Given the description of an element on the screen output the (x, y) to click on. 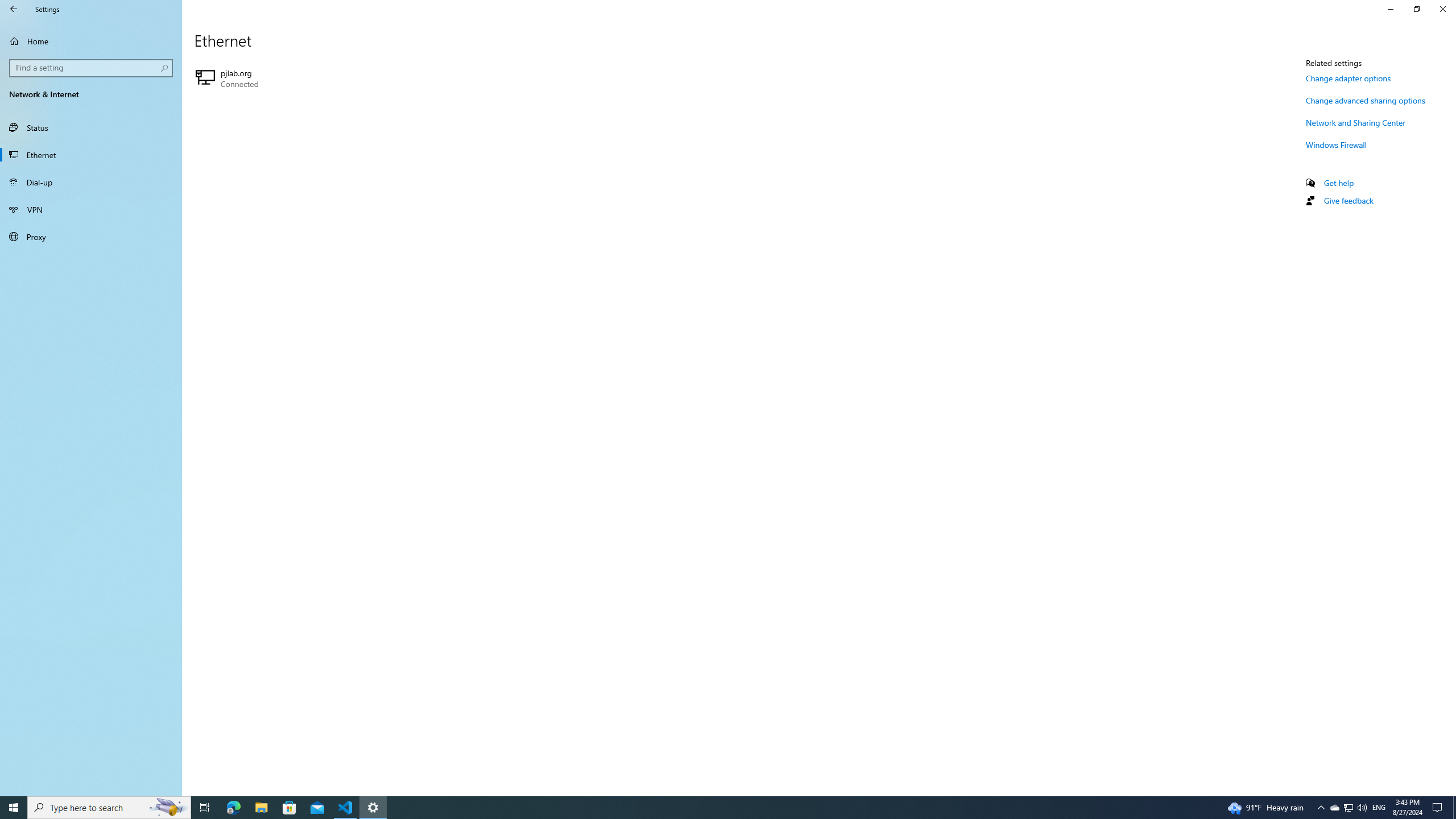
Windows Firewall (1336, 144)
Notification Chevron (1320, 807)
Minimize Settings (1390, 9)
Search highlights icon opens search home window (167, 807)
Microsoft Store (289, 807)
Visual Studio Code - 1 running window (1333, 807)
Tray Input Indicator - English (United States) (345, 807)
Microsoft Edge (1378, 807)
User Promoted Notification Area (233, 807)
Change advanced sharing options (1347, 807)
VPN (1365, 100)
Dial-up (91, 208)
